Given the description of an element on the screen output the (x, y) to click on. 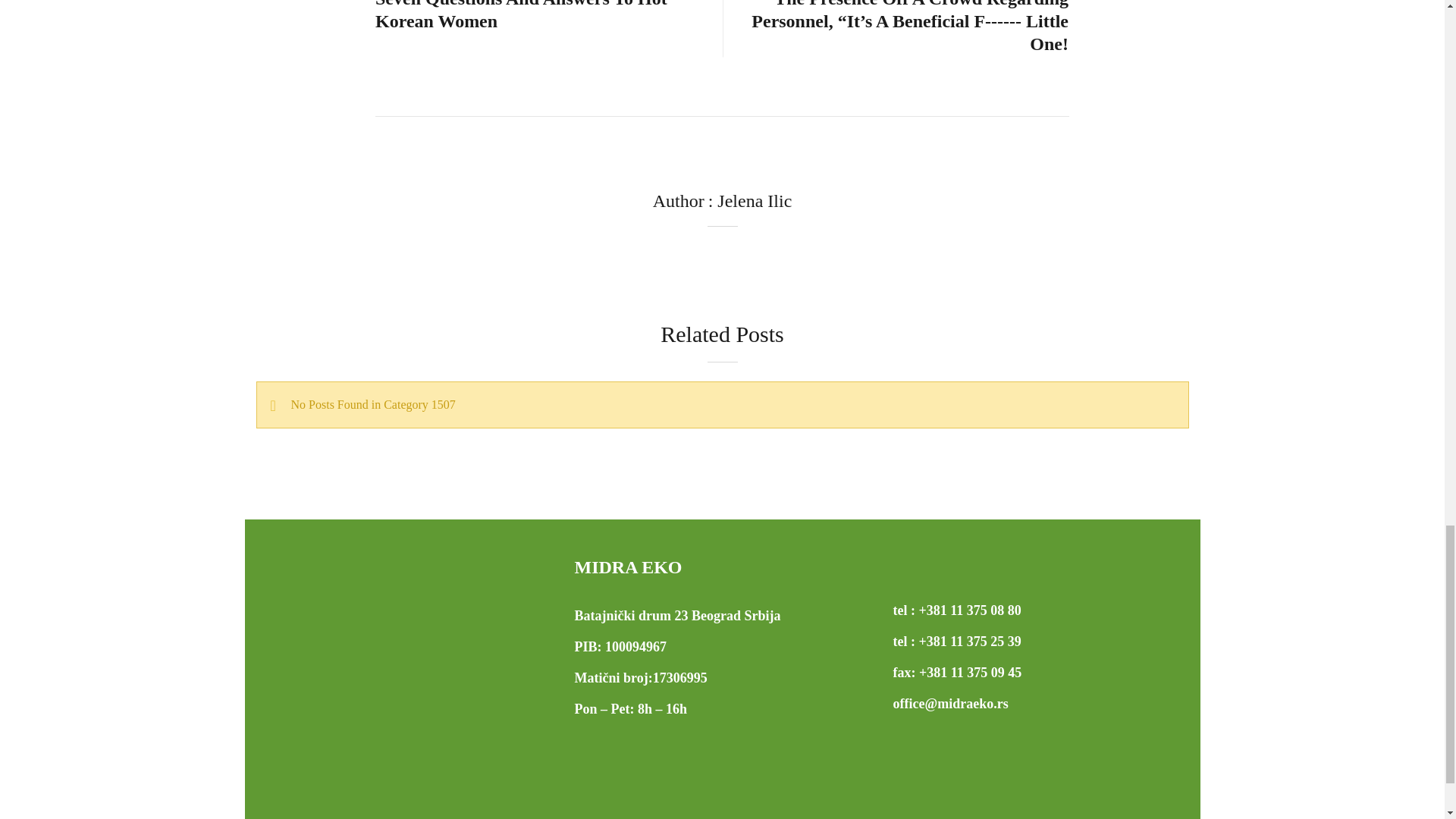
Seven Questions and Answers to Hot Korean Women (541, 16)
Jelena Ilic (754, 200)
Seven Questions And Answers To Hot Korean Women (541, 16)
